Given the description of an element on the screen output the (x, y) to click on. 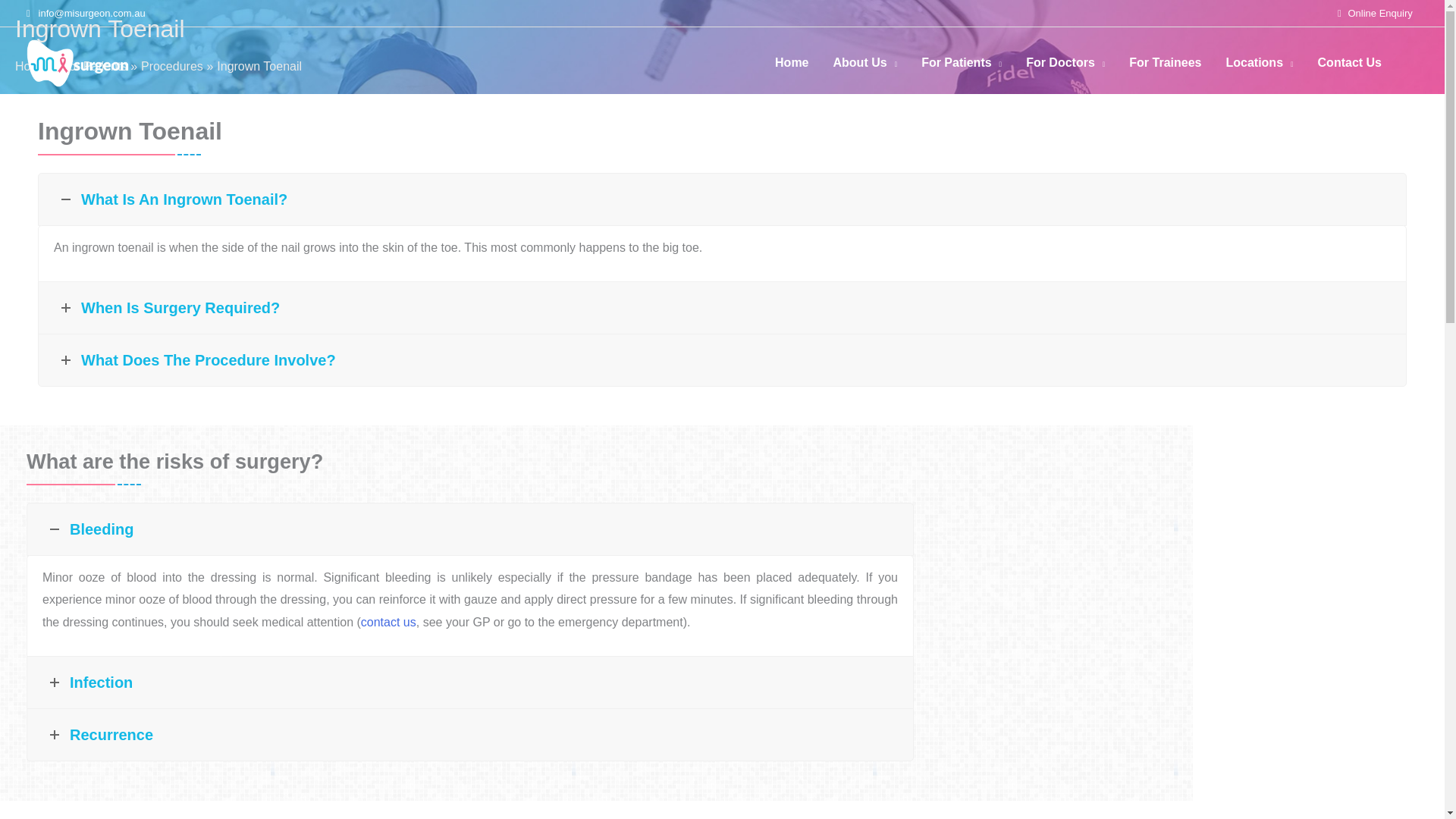
Online Enquiry (1380, 12)
About Us (865, 62)
Home (791, 62)
For Patients (960, 62)
